Given the description of an element on the screen output the (x, y) to click on. 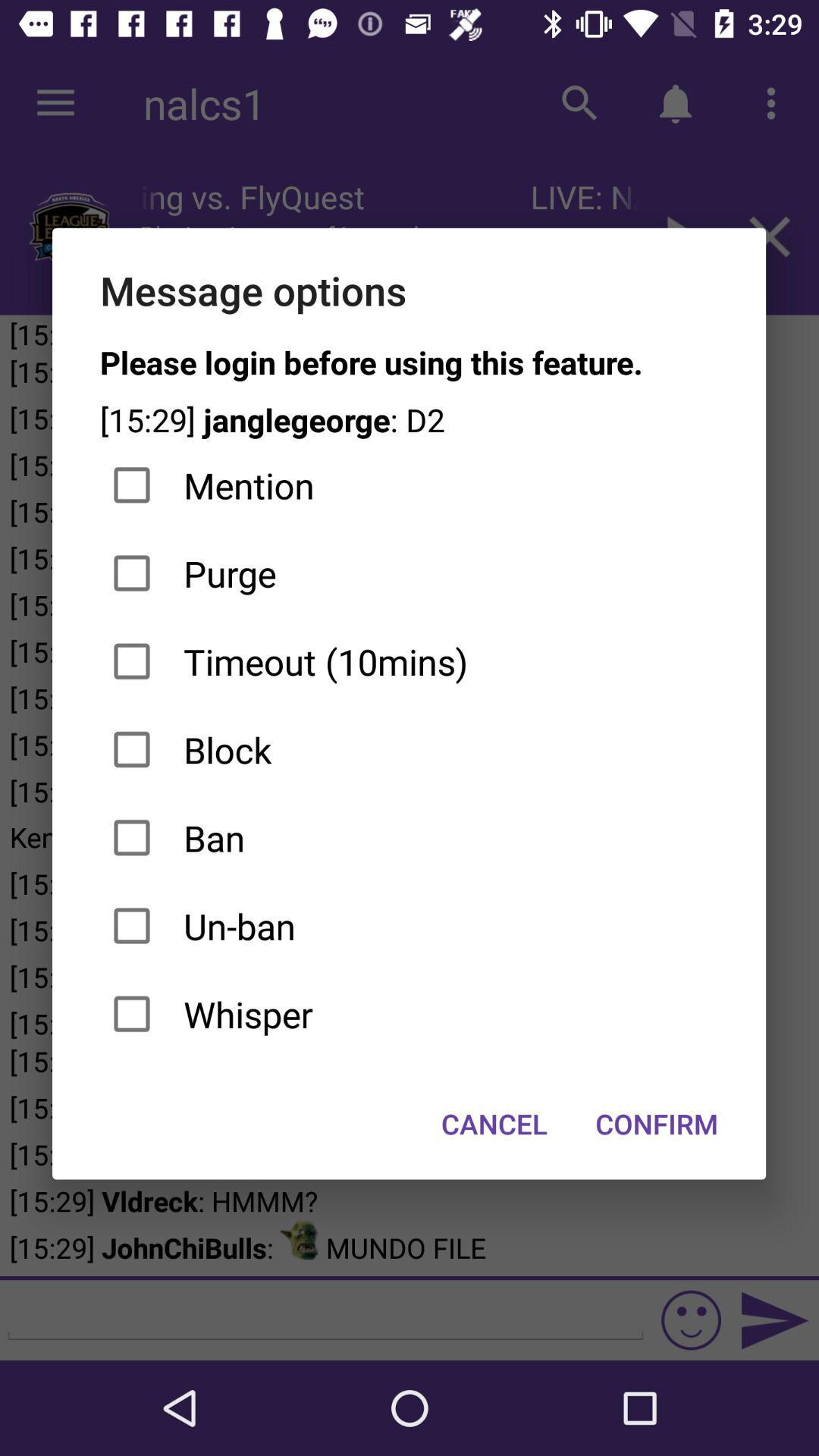
swipe until the un-ban item (409, 926)
